Given the description of an element on the screen output the (x, y) to click on. 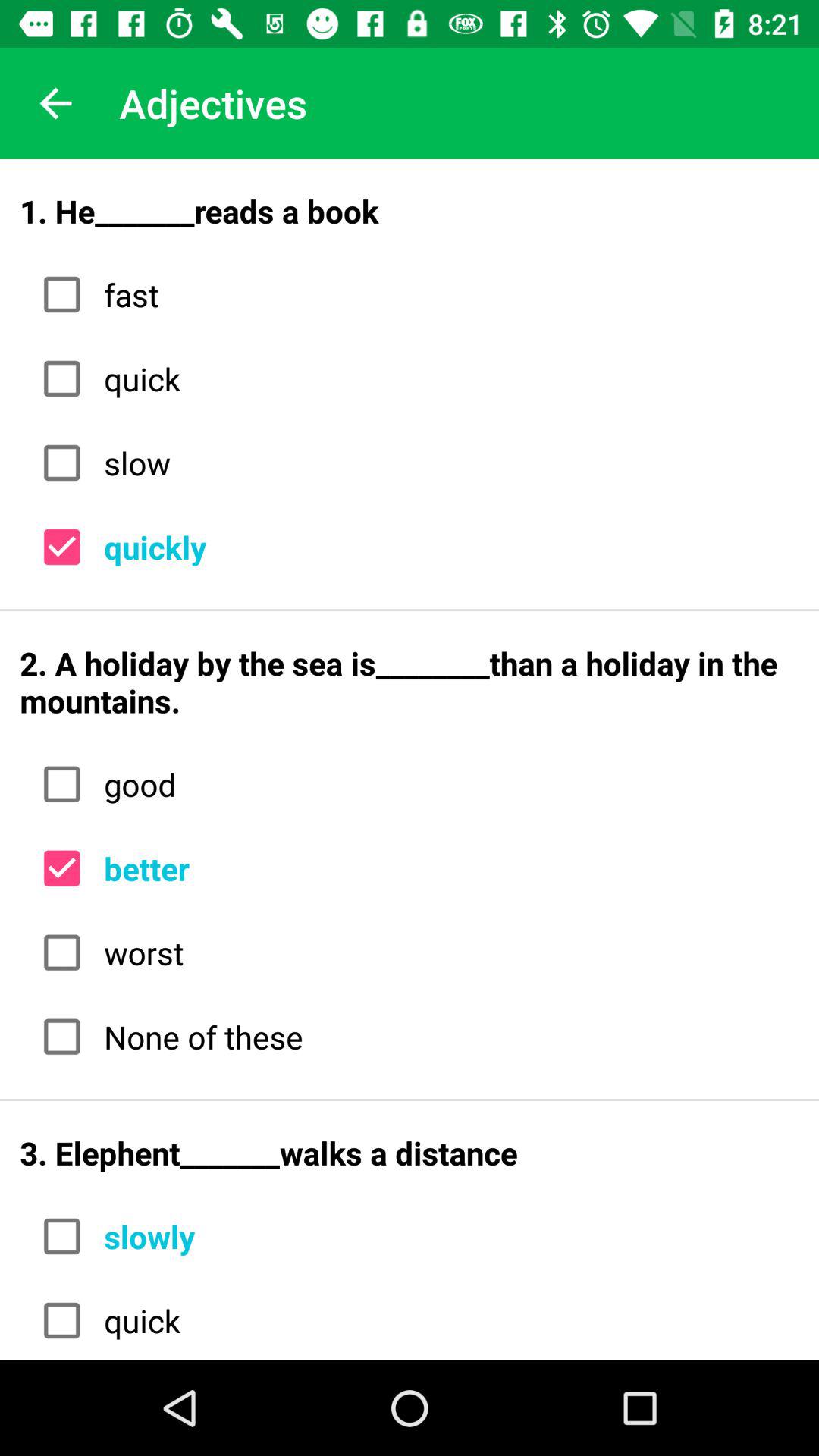
choose the icon above the none of these item (446, 952)
